Given the description of an element on the screen output the (x, y) to click on. 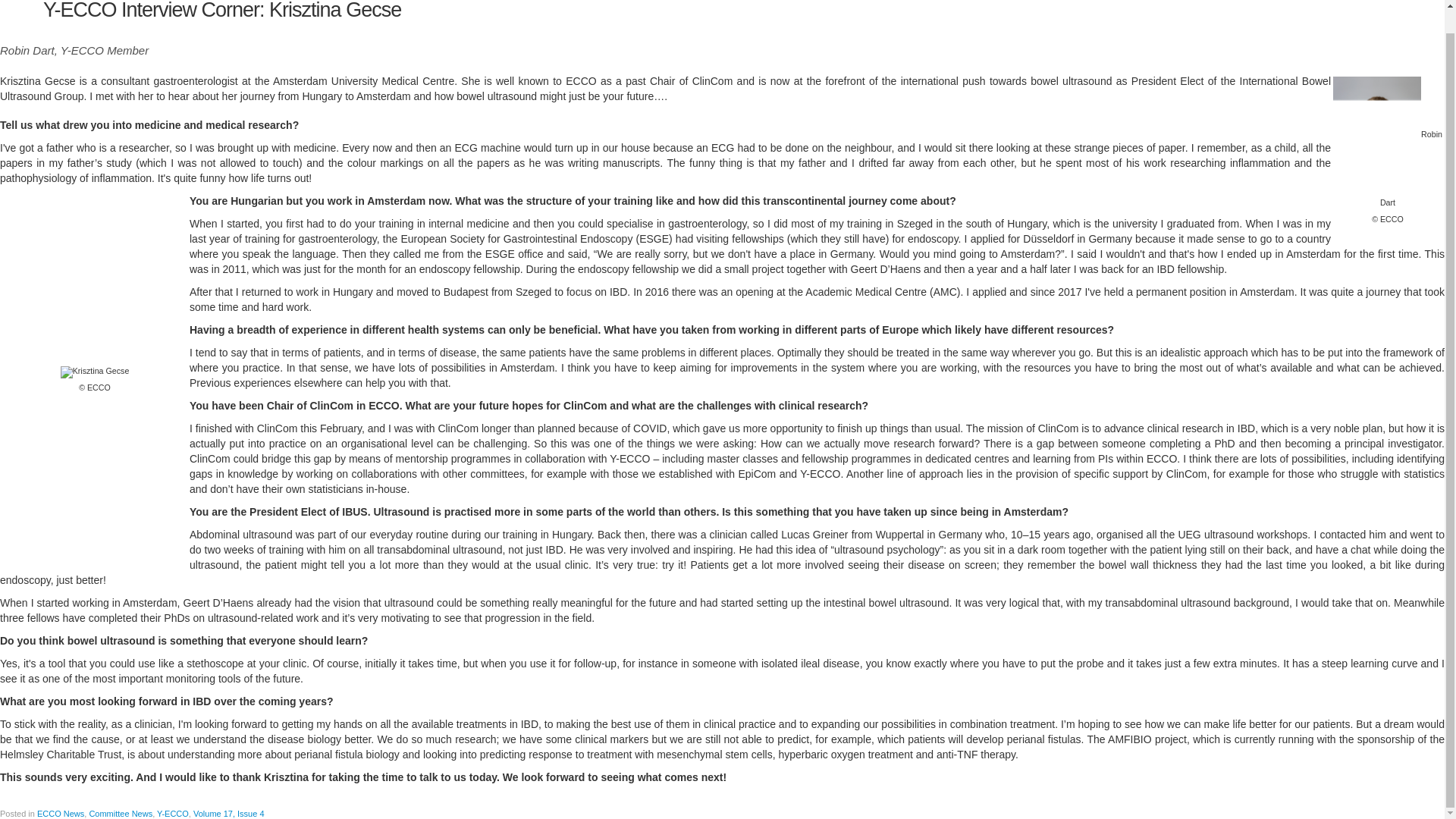
Volume 17, Issue 4 (228, 813)
Committee News (120, 813)
ECCO News (60, 813)
Y-ECCO (173, 813)
